Given the description of an element on the screen output the (x, y) to click on. 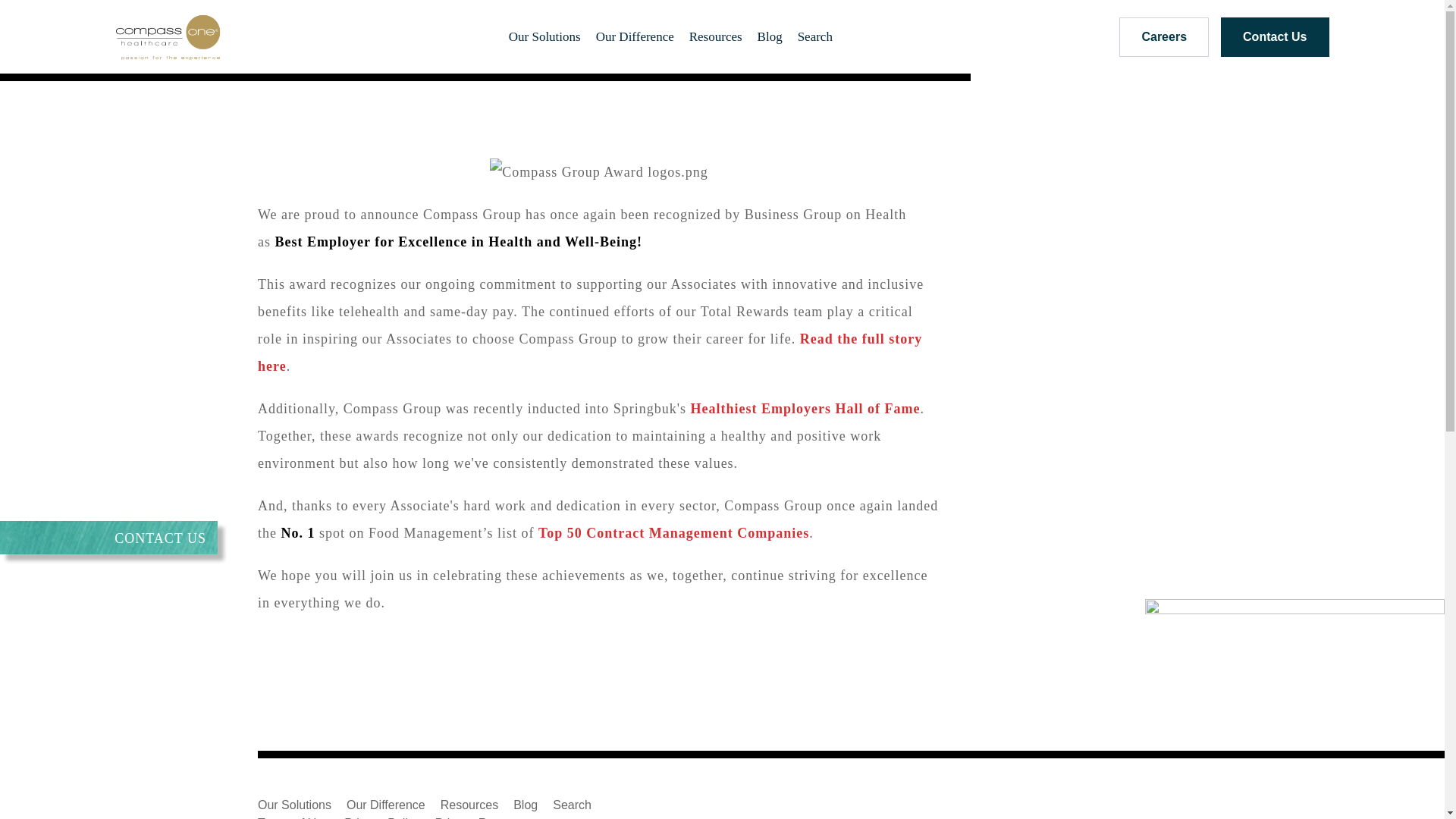
Healthiest Employers Hall of Fame (805, 408)
Read the full story here (589, 352)
Our Difference (634, 36)
Terms of Use (293, 817)
Search (572, 804)
Our Solutions (544, 36)
Contact Us (1274, 36)
Top 50 Contract Management Companies (673, 532)
Resources (715, 36)
Our Solutions (294, 804)
